Given the description of an element on the screen output the (x, y) to click on. 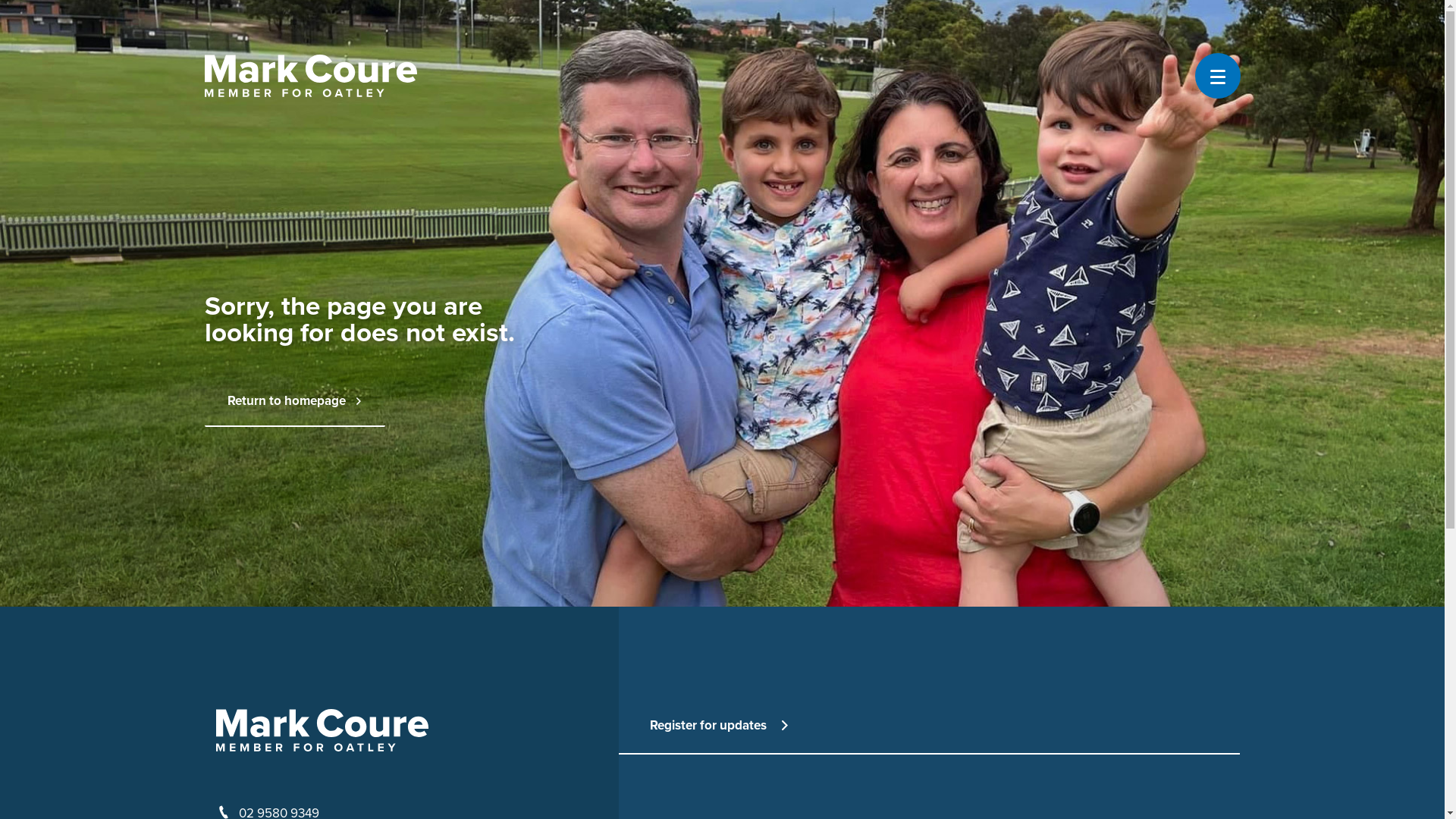
Return to homepage Element type: text (294, 401)
Register for updates Element type: text (718, 725)
